Given the description of an element on the screen output the (x, y) to click on. 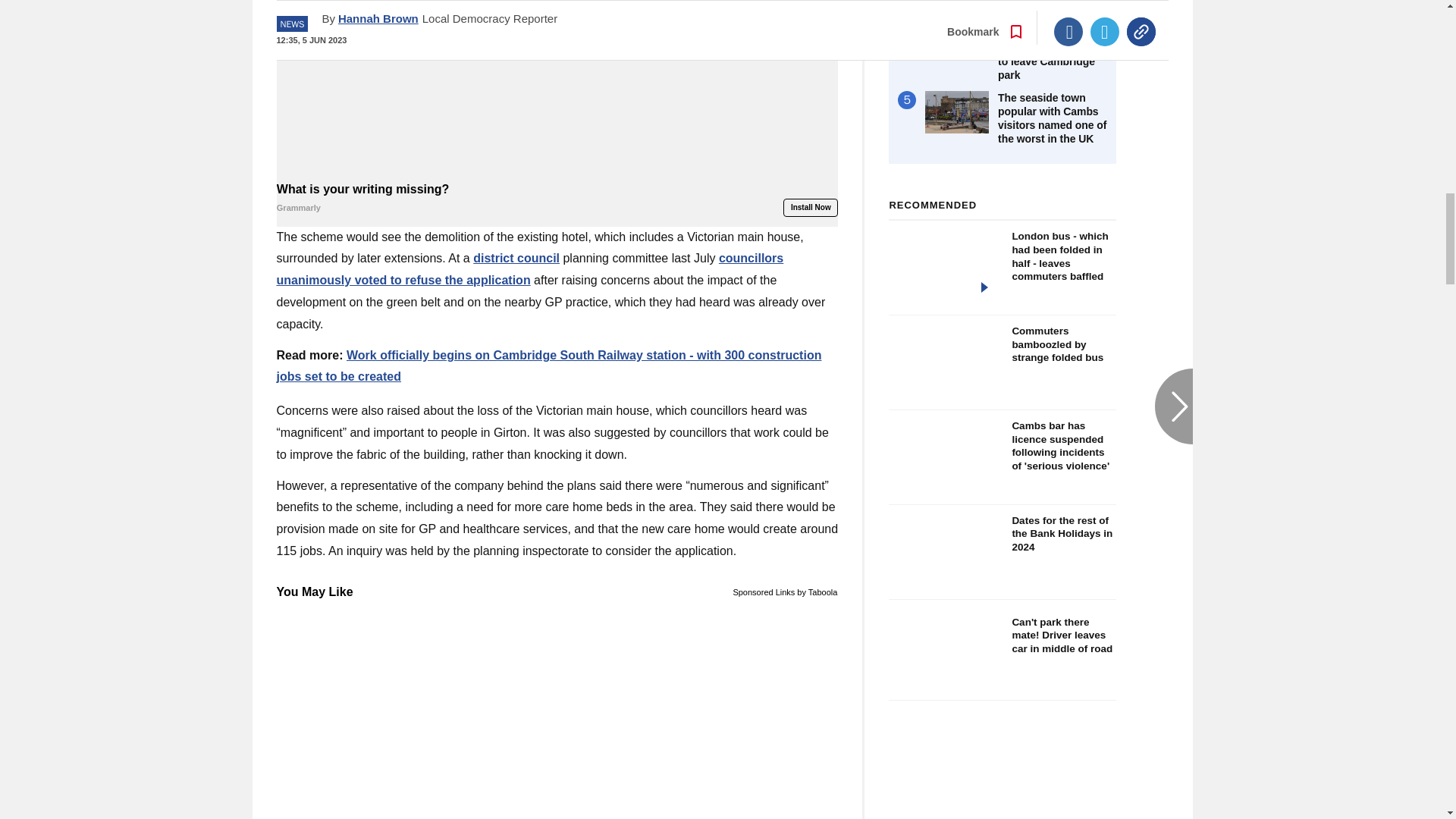
What is your writing missing? (557, 198)
